Given the description of an element on the screen output the (x, y) to click on. 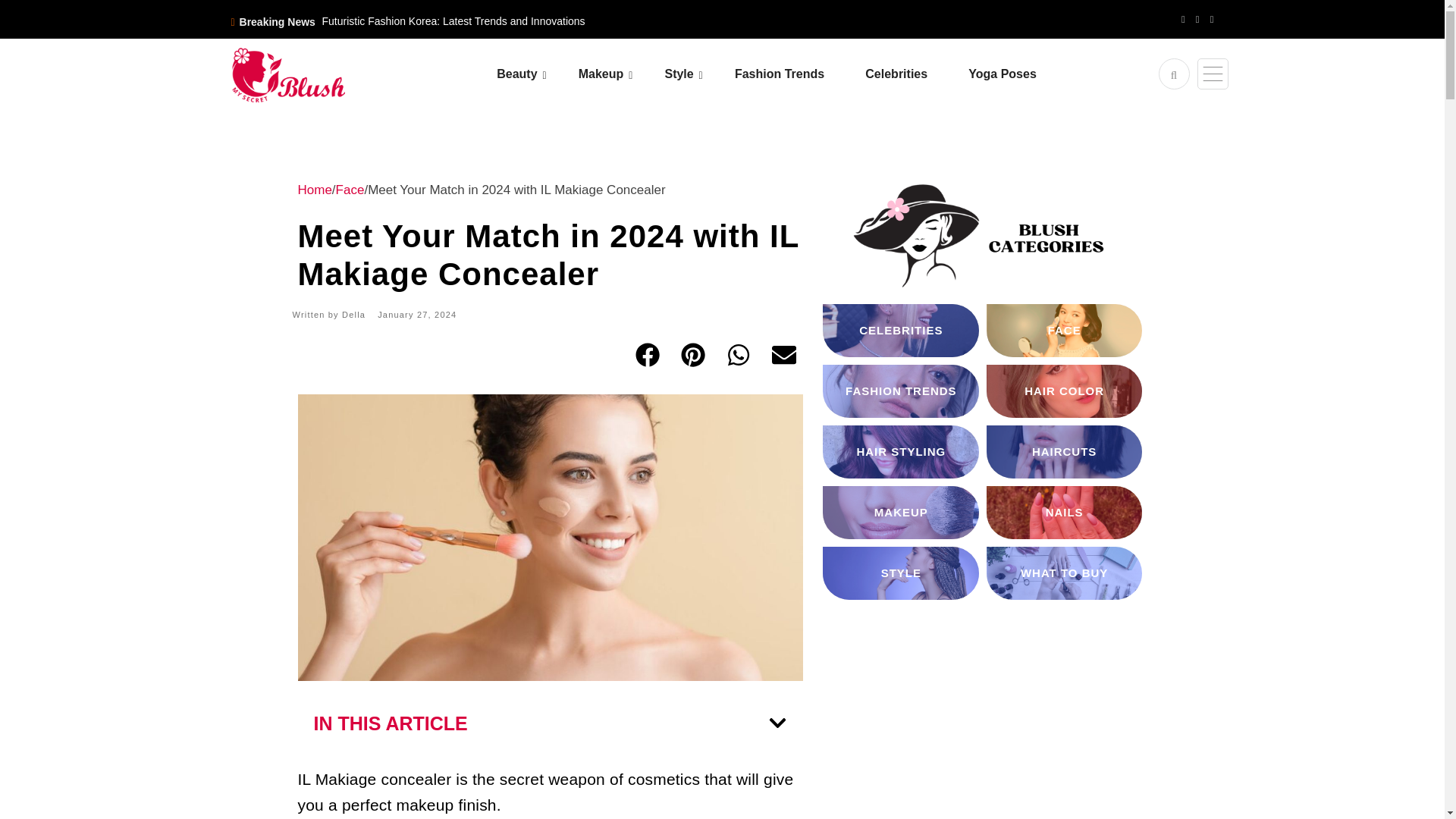
Makeup (620, 73)
Piercing (758, 116)
Eyes (673, 116)
Beauty (535, 73)
Style (696, 73)
Futuristic Fashion Korea: Latest Trends and Innovations (453, 20)
Skin (590, 116)
